Given the description of an element on the screen output the (x, y) to click on. 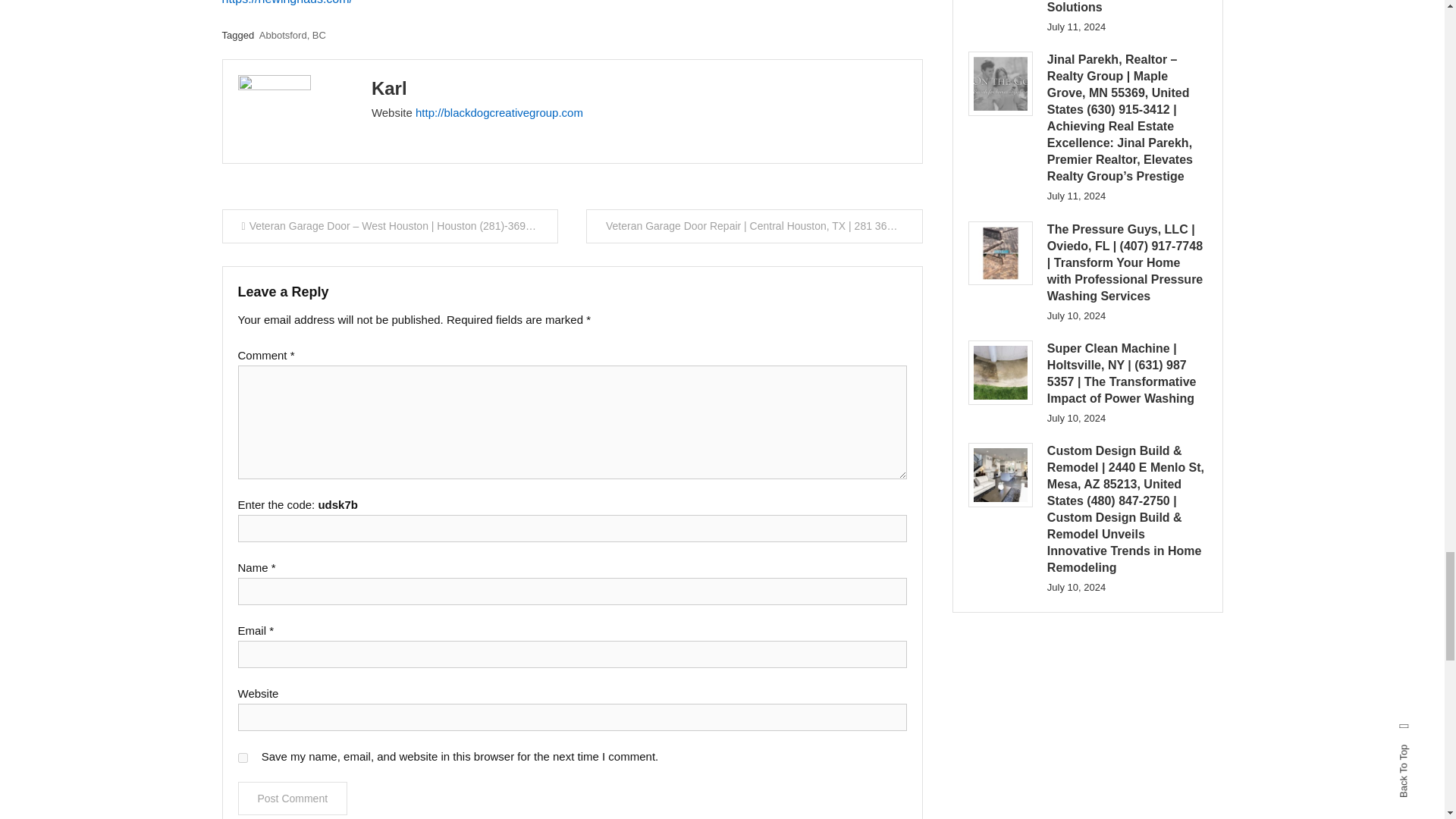
Post Comment (292, 798)
Posts by Karl (389, 87)
yes (242, 757)
